Given the description of an element on the screen output the (x, y) to click on. 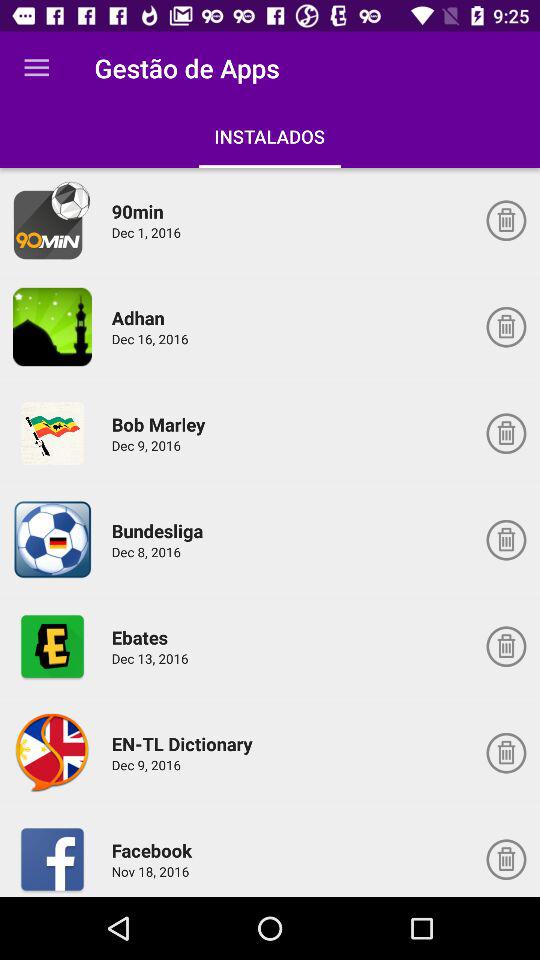
flip to bundesliga (160, 530)
